Given the description of an element on the screen output the (x, y) to click on. 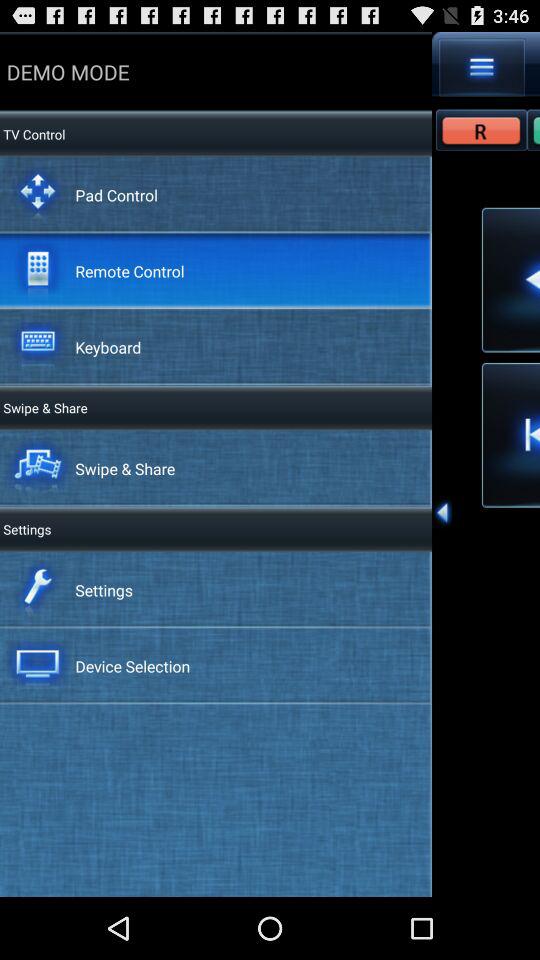
select item next to demo mode icon (481, 67)
